Given the description of an element on the screen output the (x, y) to click on. 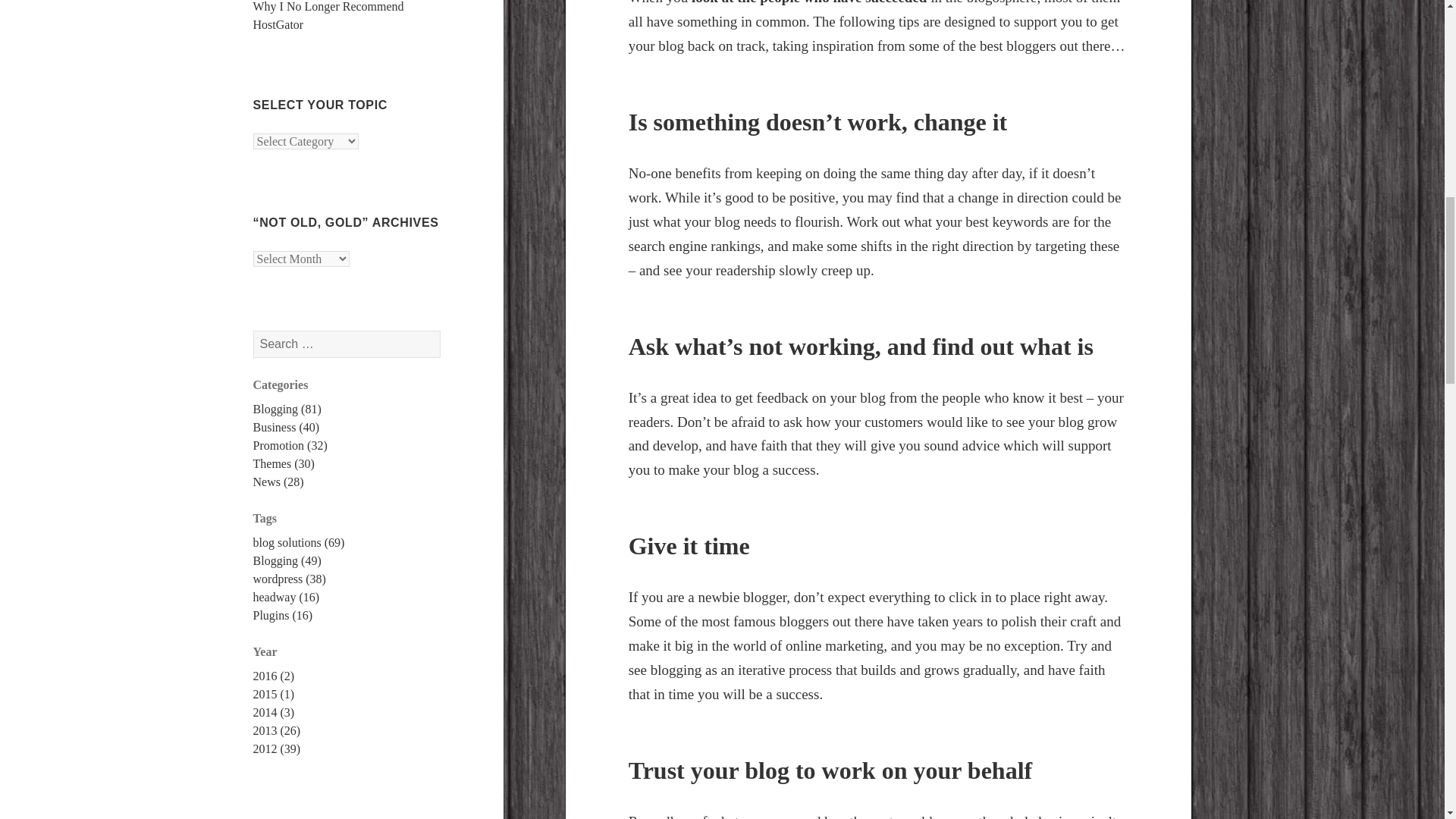
Why I No Longer Recommend HostGator (328, 15)
